Given the description of an element on the screen output the (x, y) to click on. 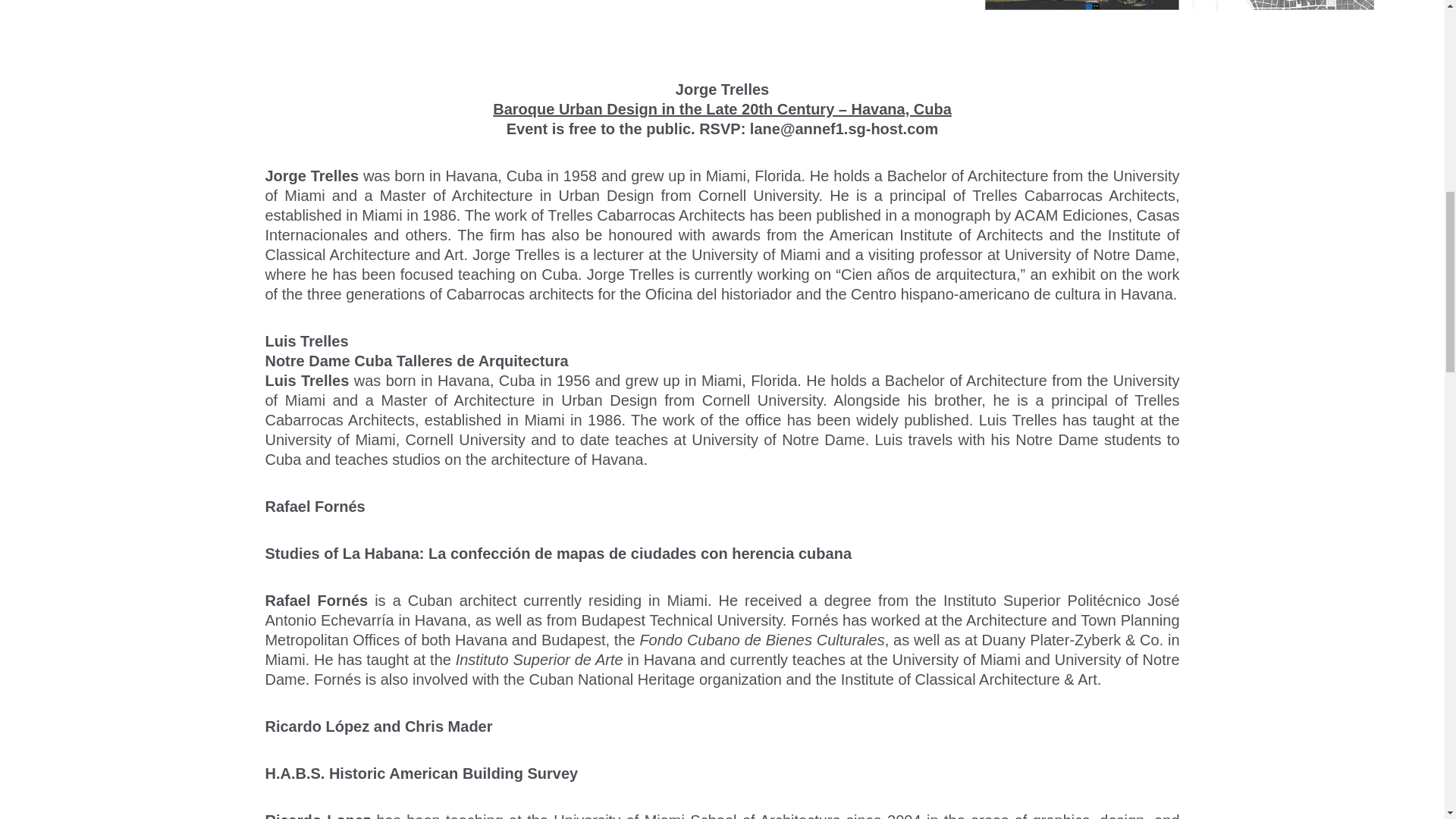
Trelles Cabarrocas Architects (645, 215)
Institute of Classical Architecture and Art (721, 244)
American Institute of Architects (936, 235)
University of Miami (756, 254)
University of Notre Dame (1089, 254)
University of Miami (721, 185)
University of Miami (721, 390)
Cornell University (758, 195)
Trelles Cabarrocas Architects (1073, 195)
